Given the description of an element on the screen output the (x, y) to click on. 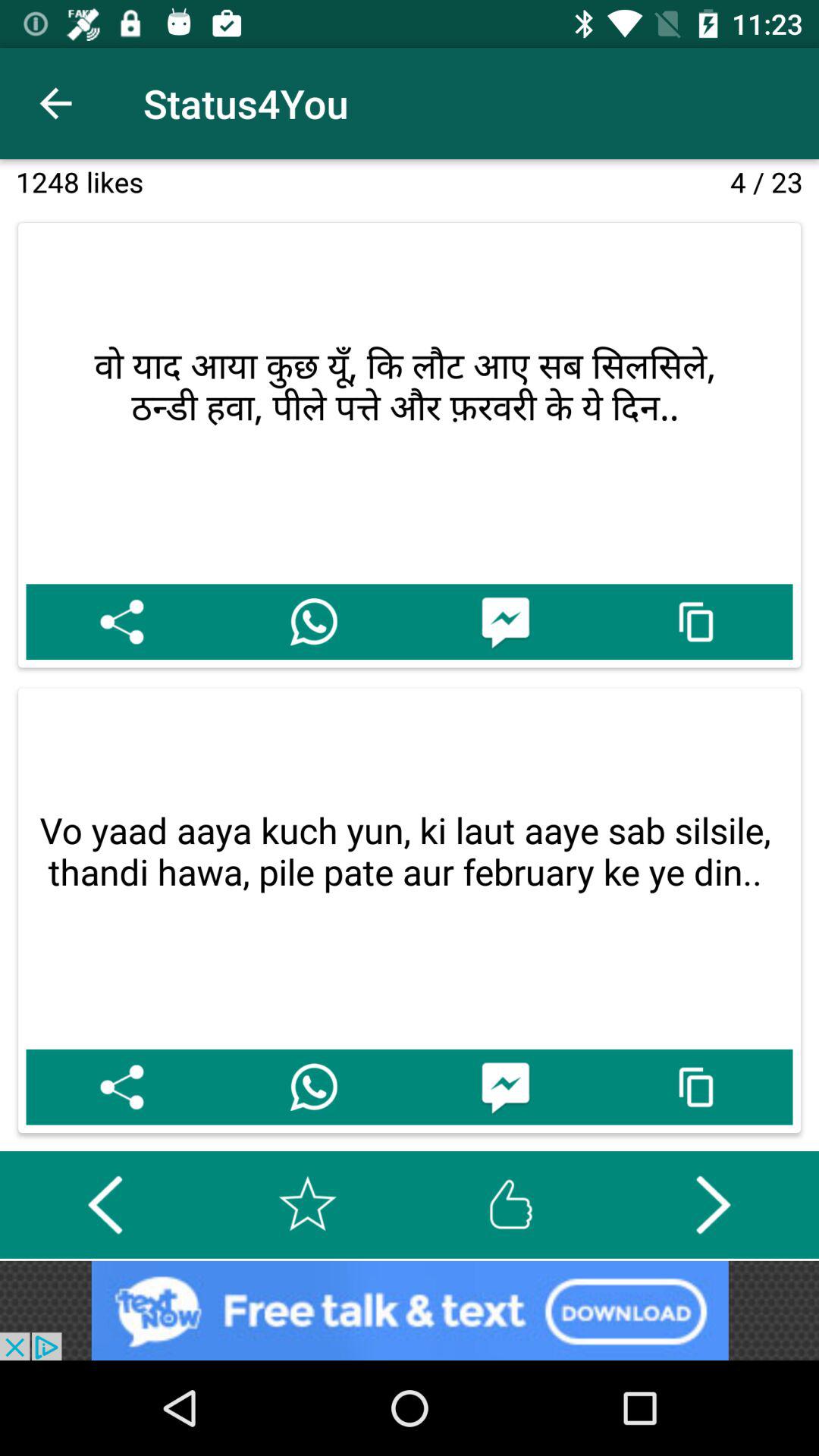
trigger the advertisement (409, 1310)
